Given the description of an element on the screen output the (x, y) to click on. 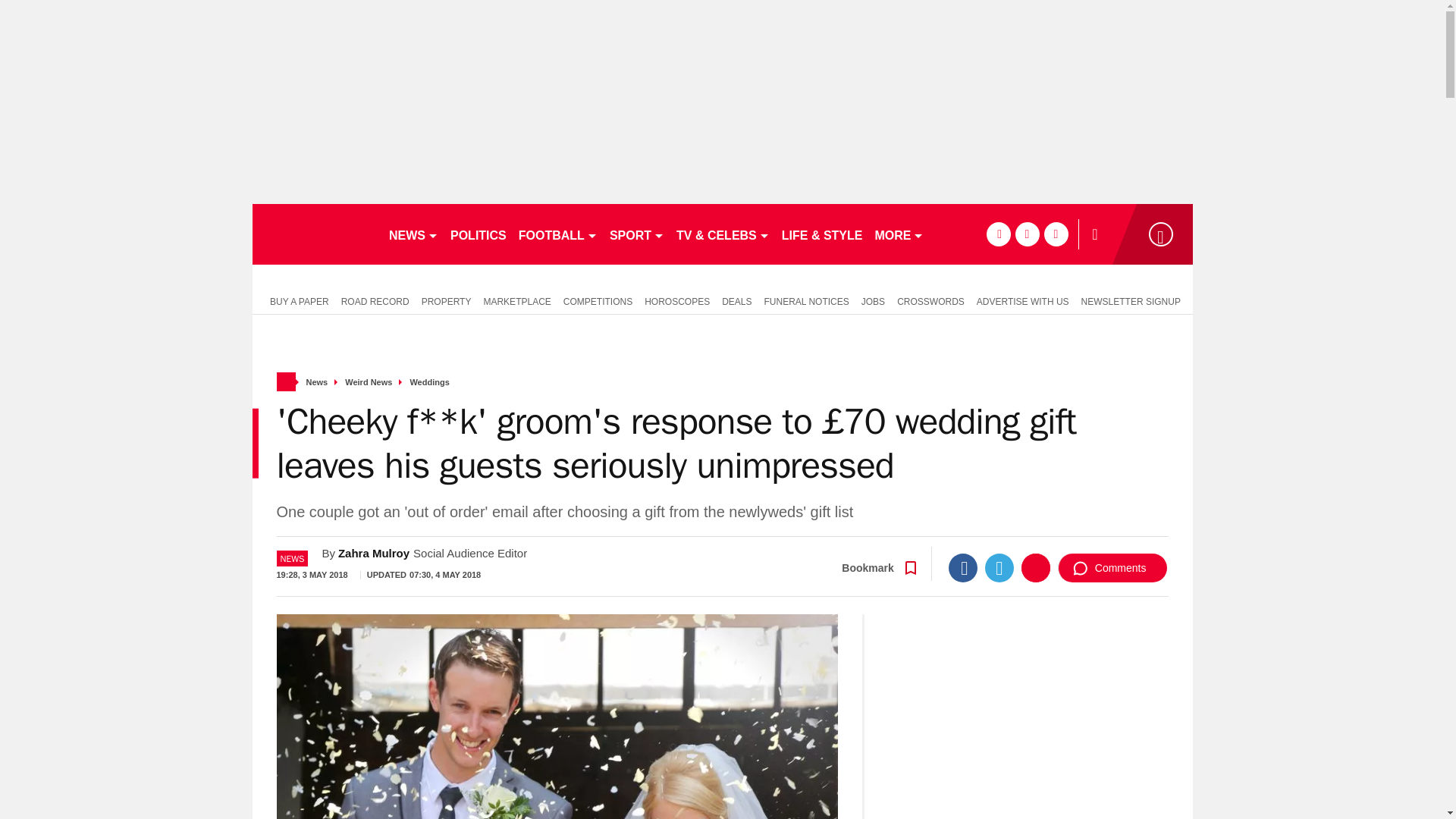
FOOTBALL (558, 233)
Facebook (962, 567)
Twitter (999, 567)
POLITICS (478, 233)
Comments (1112, 567)
SPORT (636, 233)
instagram (1055, 233)
dailyrecord (313, 233)
facebook (997, 233)
twitter (1026, 233)
NEWS (413, 233)
